Given the description of an element on the screen output the (x, y) to click on. 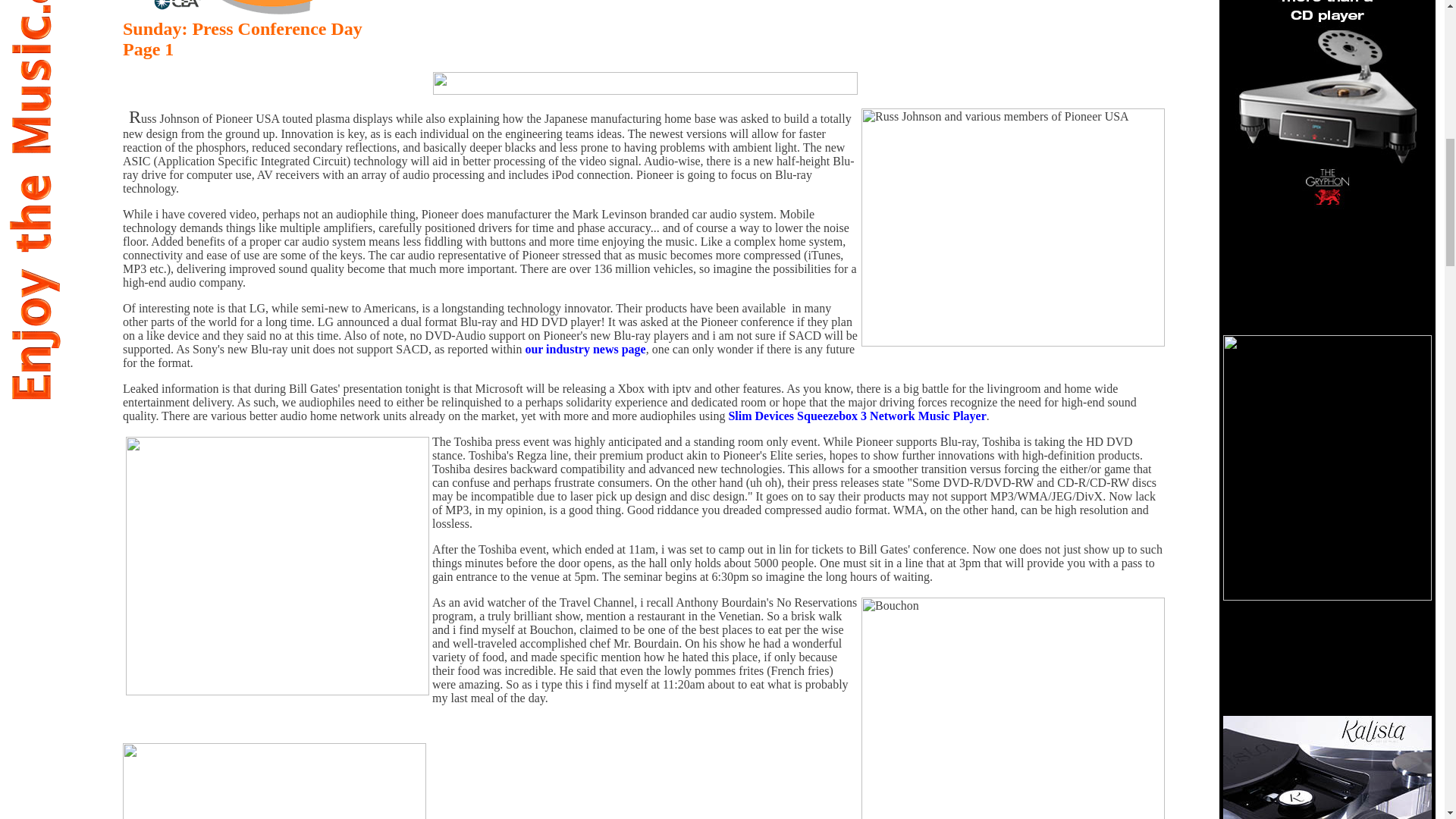
Slim Devices Squeezebox 3 Network Music Player (856, 415)
our industry news page (584, 349)
